Given the description of an element on the screen output the (x, y) to click on. 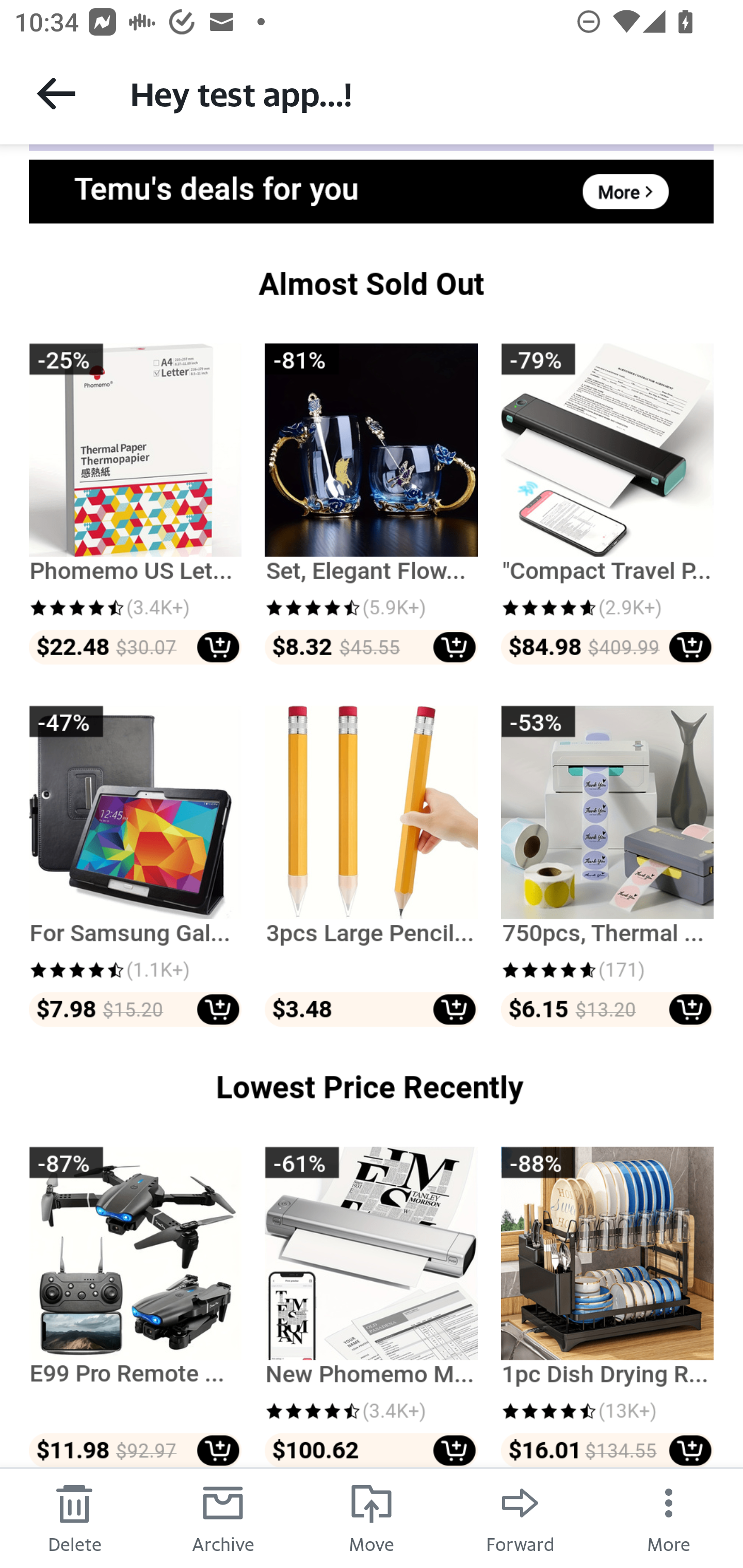
Back (55, 92)
   (371, 283)
mbs_landing_goods (135, 503)
mbs_landing_goods (370, 503)
mbs_landing_goods (606, 503)
mbs_landing_goods (135, 866)
mbs_landing_goods (370, 866)
mbs_landing_goods (606, 866)
   (371, 1086)
mbs_landing_goods (135, 1305)
mbs_landing_goods (370, 1305)
mbs_landing_goods (606, 1305)
Delete (74, 1517)
Archive (222, 1517)
Move (371, 1517)
Forward (519, 1517)
More (668, 1517)
